Given the description of an element on the screen output the (x, y) to click on. 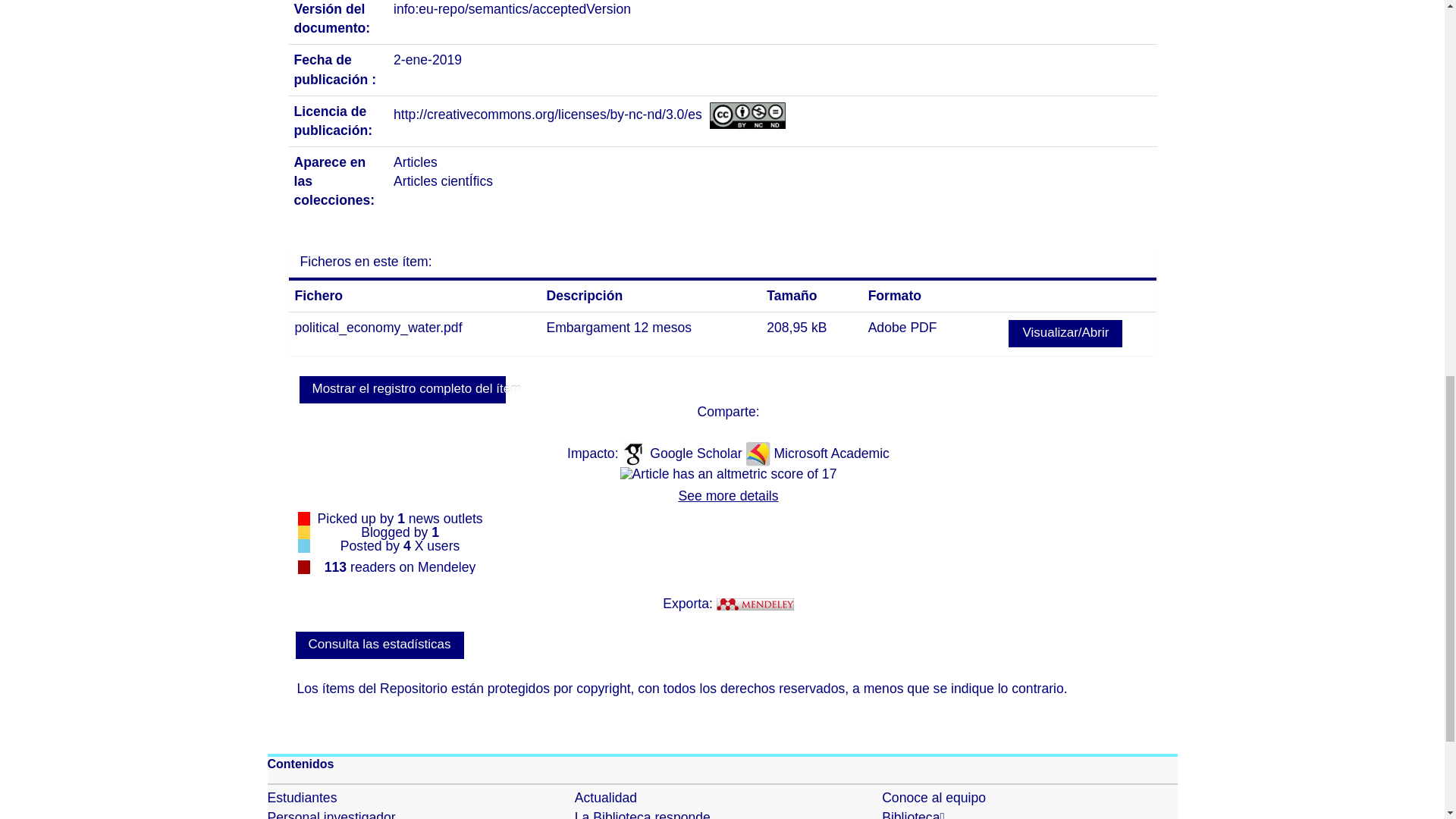
Google Scholar (697, 453)
Microsoft Academic (831, 453)
Google Scholar (697, 453)
Articles (415, 161)
Microsoft Academic (831, 453)
